Given the description of an element on the screen output the (x, y) to click on. 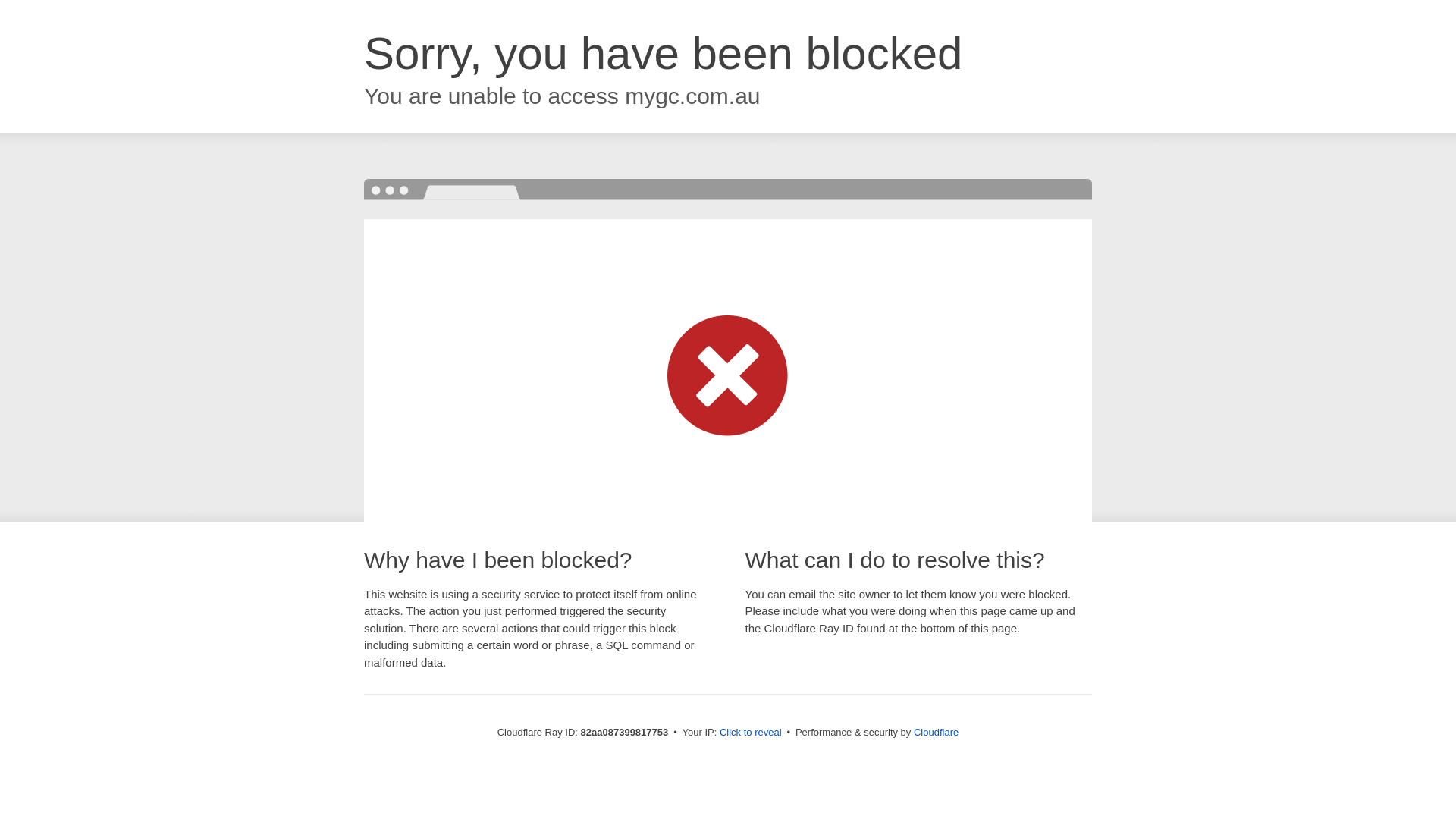
Cloudflare Element type: text (935, 731)
Click to reveal Element type: text (750, 732)
